Given the description of an element on the screen output the (x, y) to click on. 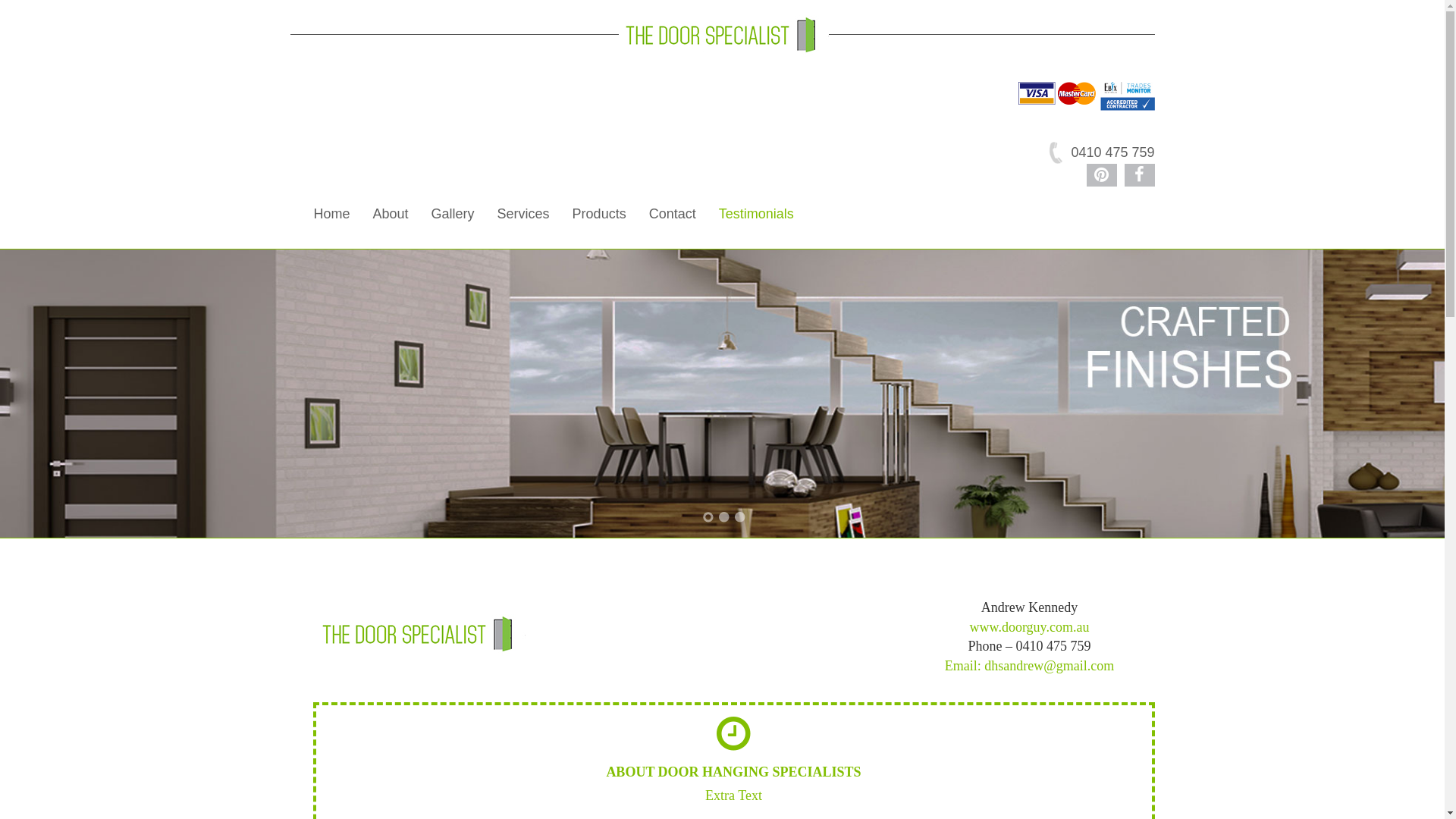
Gallery Element type: text (453, 213)
Home Element type: text (330, 213)
www.doorguy.com.au Element type: text (1029, 626)
2 Element type: text (723, 516)
Services Element type: text (523, 213)
0410 475 759 Element type: text (1099, 152)
Testimonials Element type: text (756, 213)
1 Element type: text (707, 516)
Email: dhsandrew@gmail.com Element type: text (1029, 665)
Products Element type: text (599, 213)
3 Element type: text (739, 516)
About Element type: text (390, 213)
Contact Element type: text (672, 213)
Read More Element type: text (732, 725)
